Given the description of an element on the screen output the (x, y) to click on. 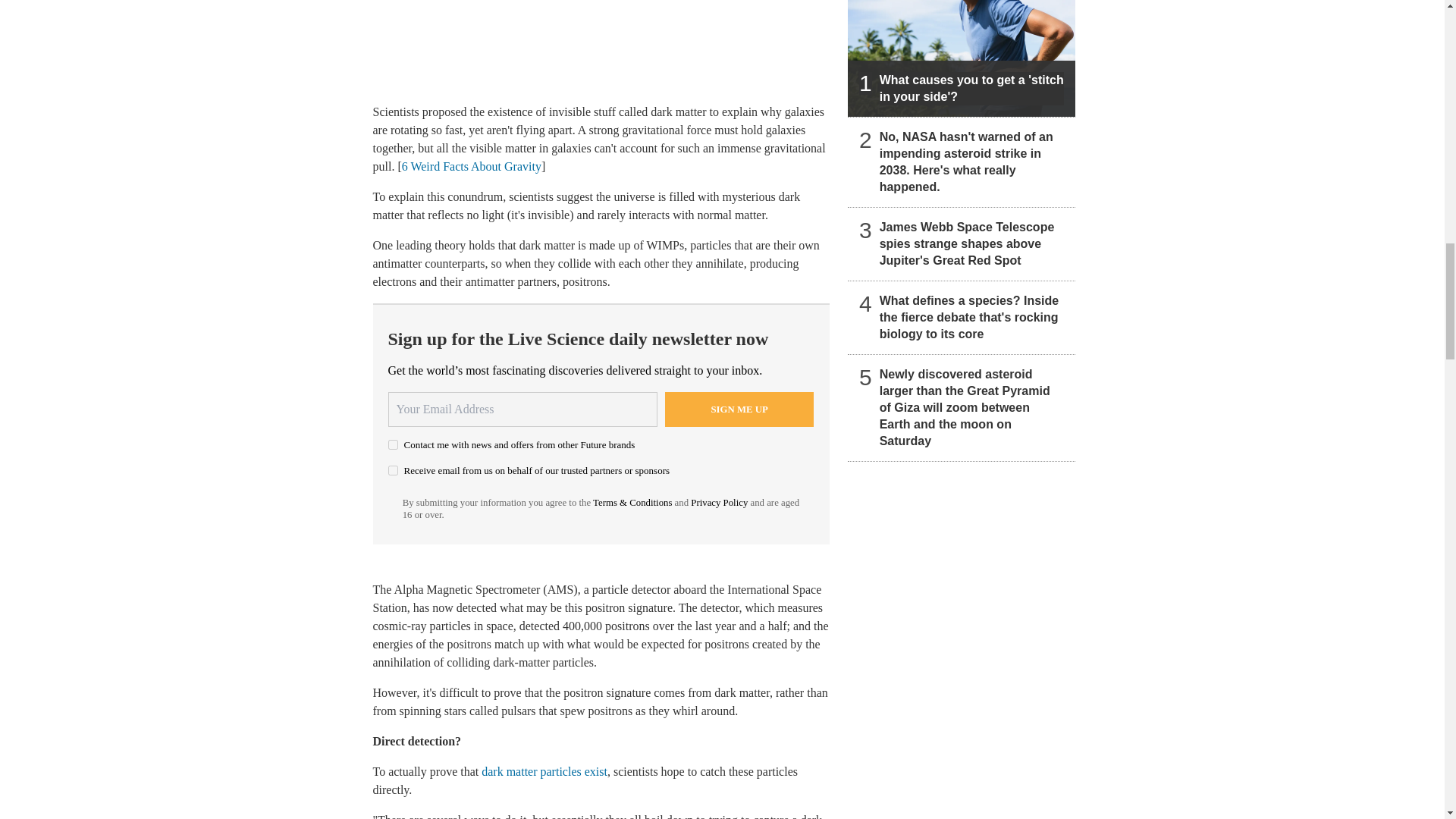
What causes you to get a 'stitch in your side'? (961, 58)
Sign me up (739, 409)
on (392, 470)
on (392, 444)
